Given the description of an element on the screen output the (x, y) to click on. 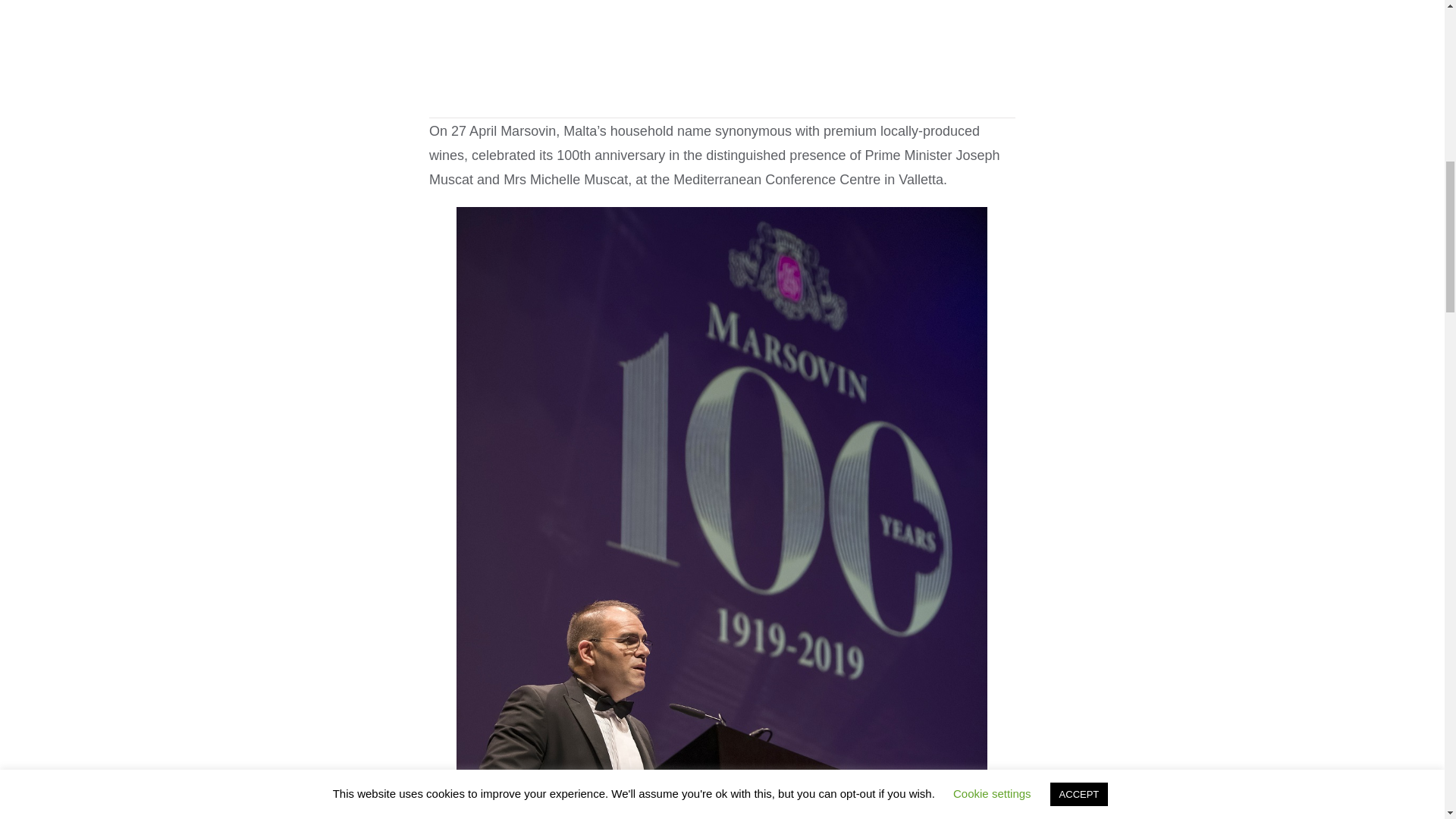
YouTube video player (722, 54)
